Given the description of an element on the screen output the (x, y) to click on. 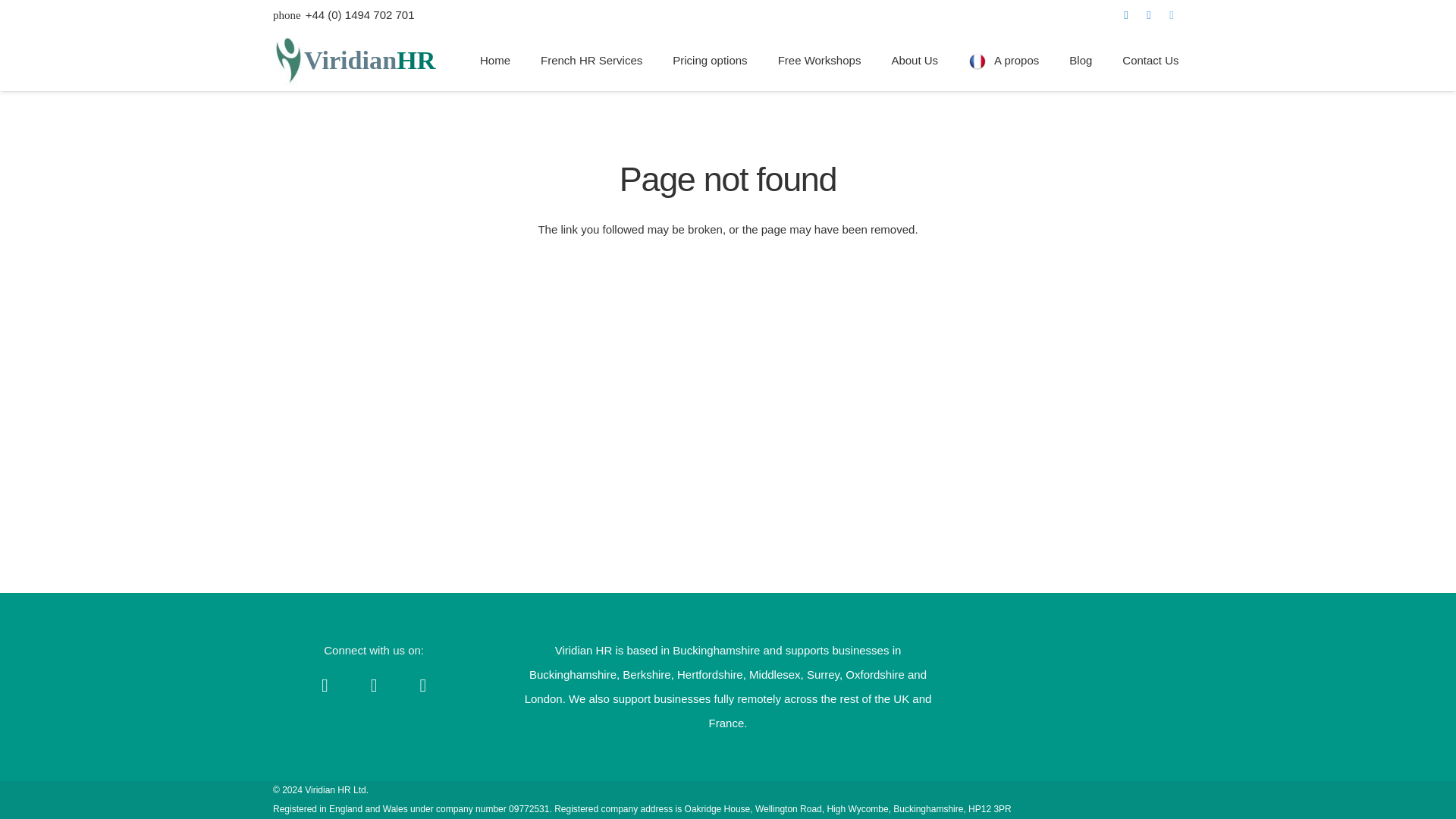
Twitter (1171, 15)
Pricing options (709, 60)
Viridian (350, 59)
LinkedIn (1126, 15)
French HR Services (591, 60)
Home (494, 60)
Contact Us (1149, 60)
A propos (1003, 60)
LinkedIn (324, 685)
HR (415, 59)
